Given the description of an element on the screen output the (x, y) to click on. 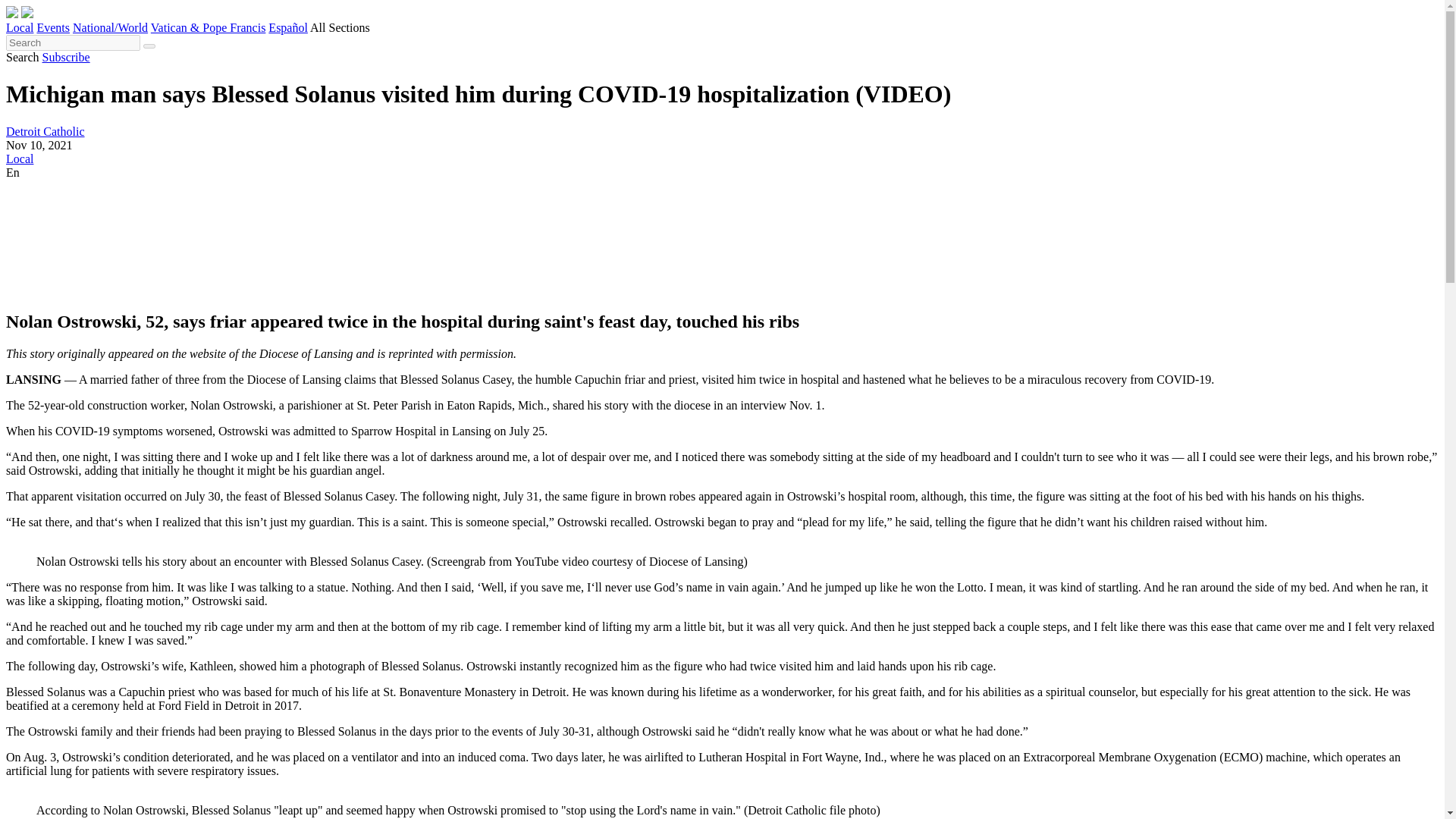
All Sections (339, 27)
Search (22, 56)
Detroit Catholic (44, 131)
Local (19, 158)
Local (19, 27)
Subscribe (66, 56)
Events (52, 27)
